Given the description of an element on the screen output the (x, y) to click on. 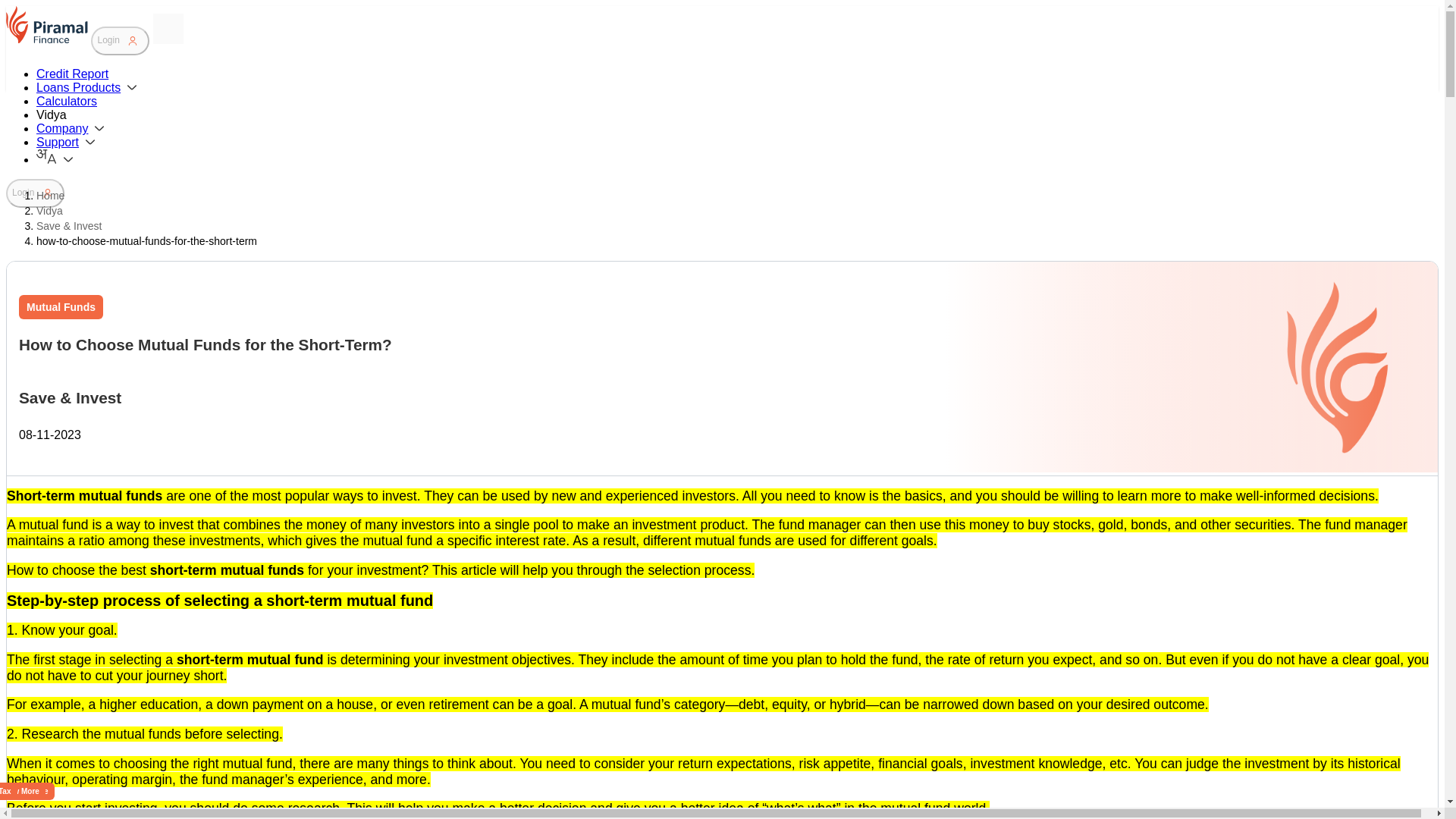
Credit Report (71, 73)
Calculators (66, 101)
Login (119, 40)
Company (71, 128)
Support (66, 141)
Vidya (51, 114)
Loans Products (87, 87)
